Given the description of an element on the screen output the (x, y) to click on. 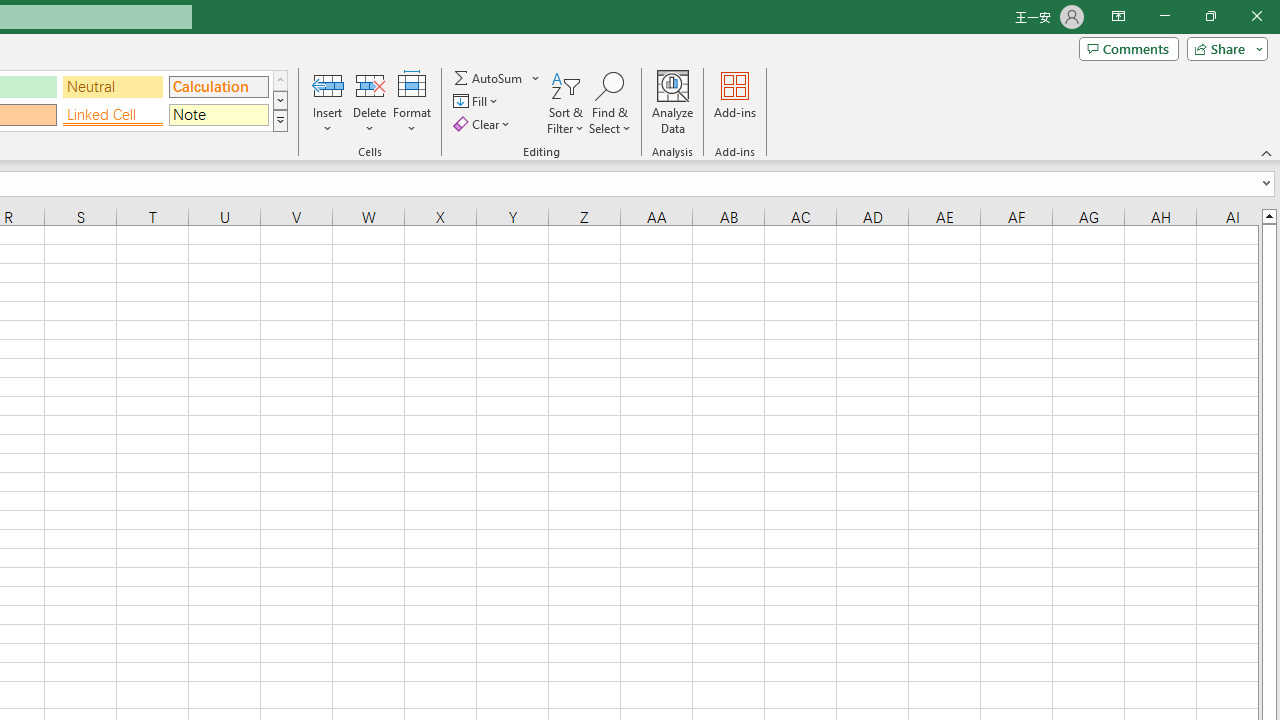
Sort & Filter (566, 102)
Delete Cells... (369, 84)
Sum (489, 78)
Find & Select (610, 102)
Neutral (113, 86)
